Given the description of an element on the screen output the (x, y) to click on. 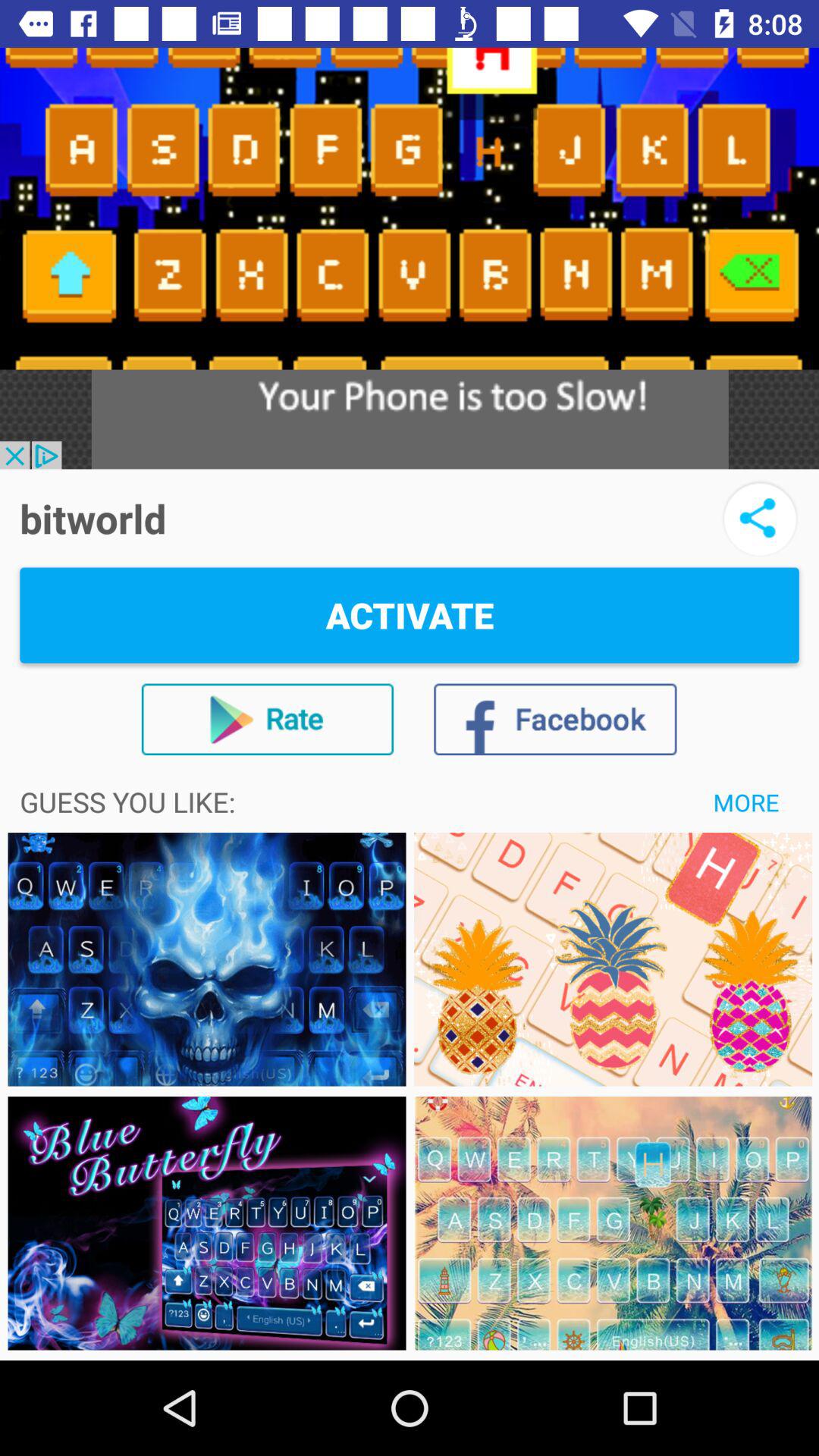
select the icon below the activate (267, 719)
